Given the description of an element on the screen output the (x, y) to click on. 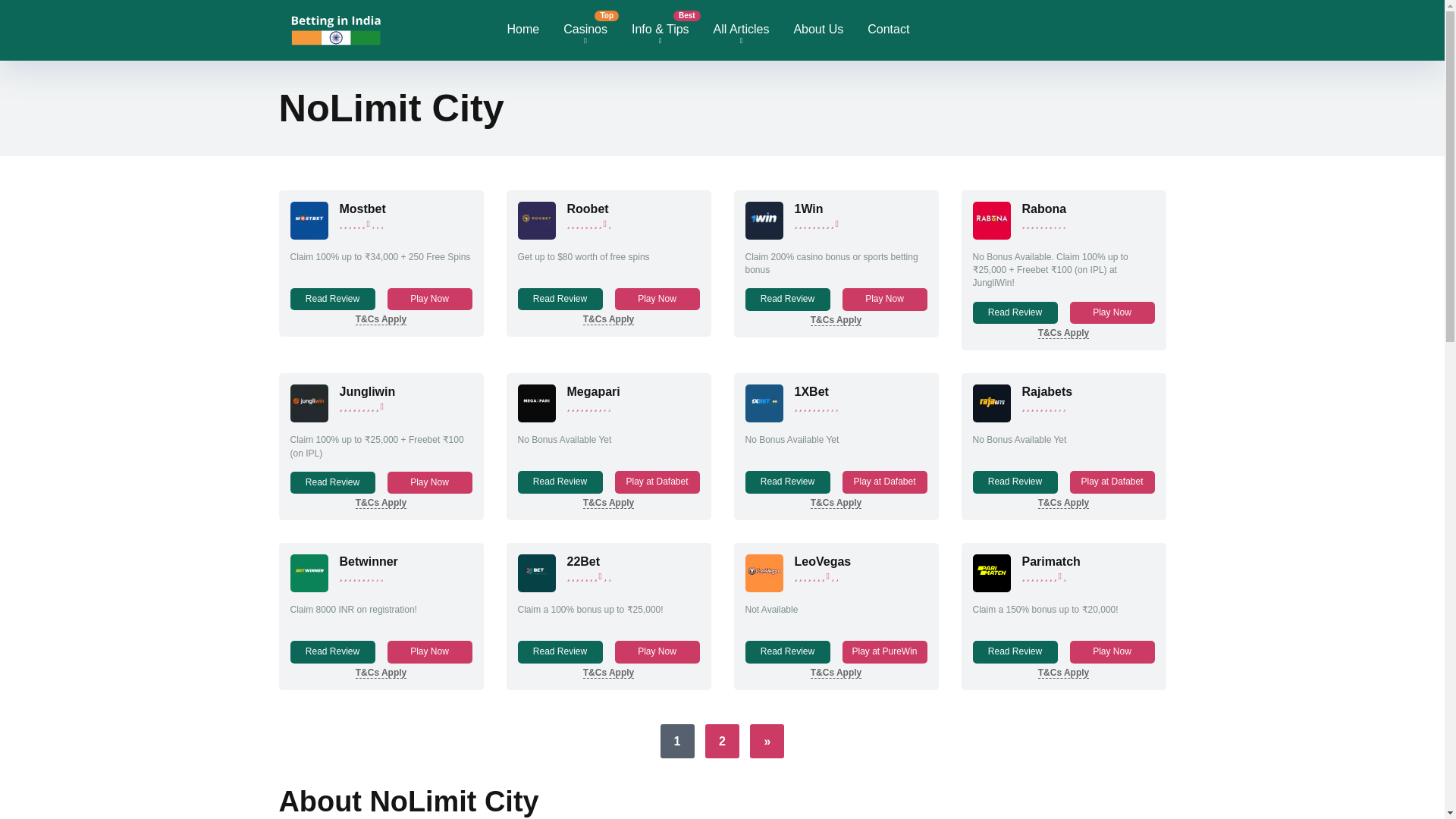
Home (523, 30)
Read Review (559, 299)
Play Now (883, 299)
Mostbet (362, 208)
Play Now (656, 299)
1Win (763, 235)
Casinos (585, 30)
Read Review (331, 299)
Rabona (1044, 208)
Read Review (786, 299)
